Given the description of an element on the screen output the (x, y) to click on. 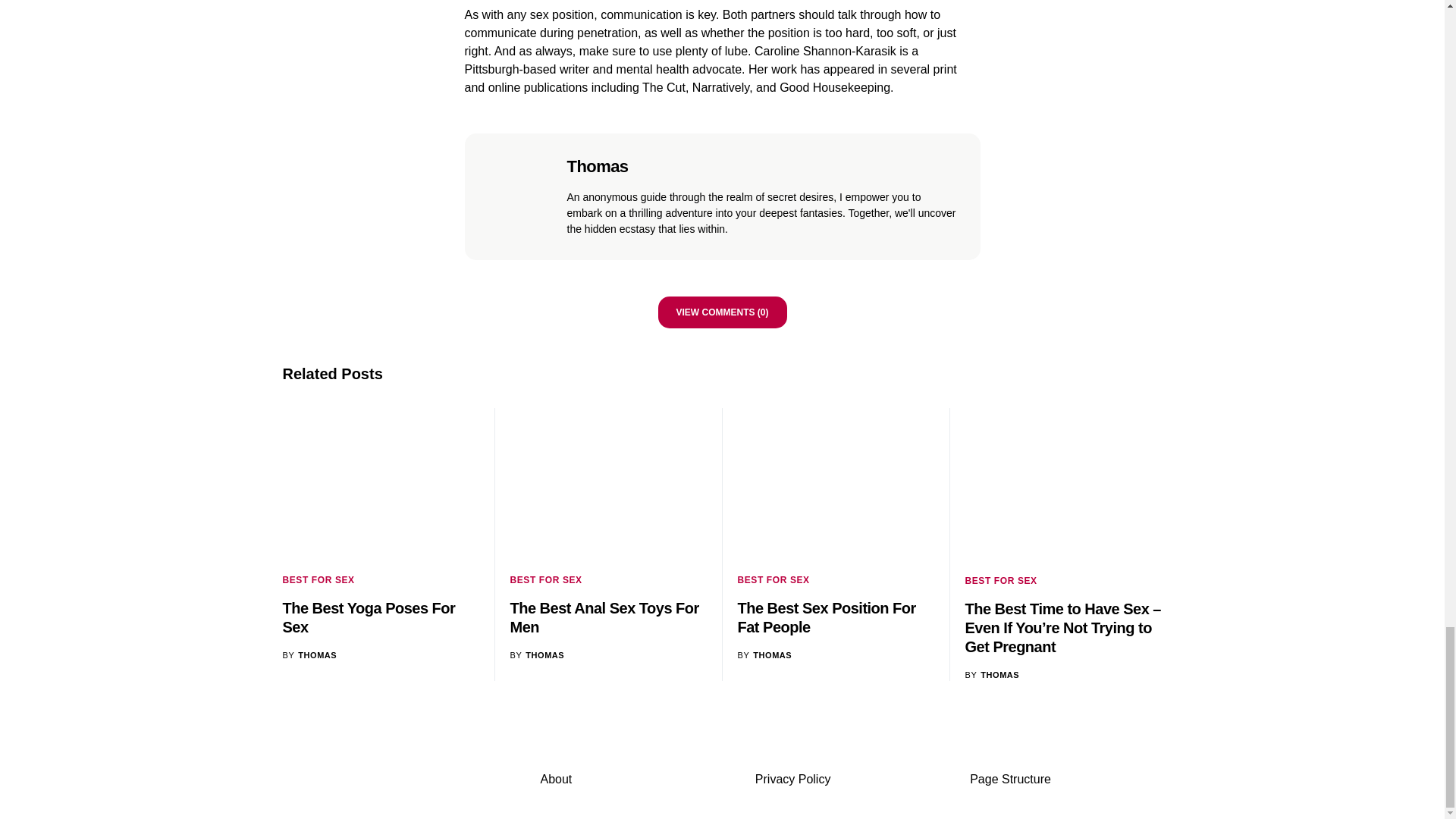
View all posts by Thomas (536, 655)
View all posts by Thomas (991, 675)
View all posts by Thomas (764, 655)
View all posts by Thomas (309, 655)
